Given the description of an element on the screen output the (x, y) to click on. 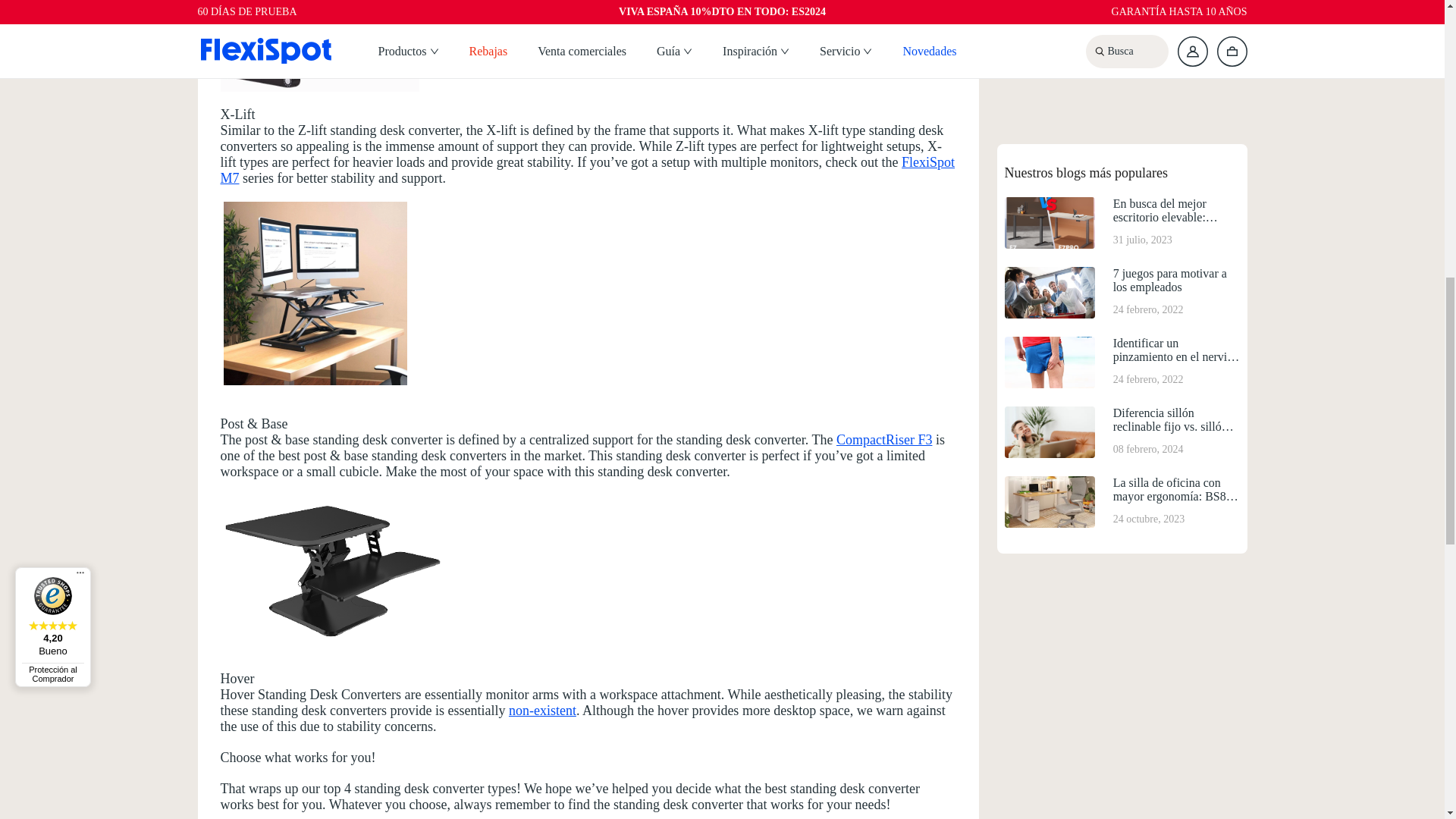
FlexiSpot M7 (587, 169)
non-existent (542, 710)
CompactRiser F3 (884, 439)
